Given the description of an element on the screen output the (x, y) to click on. 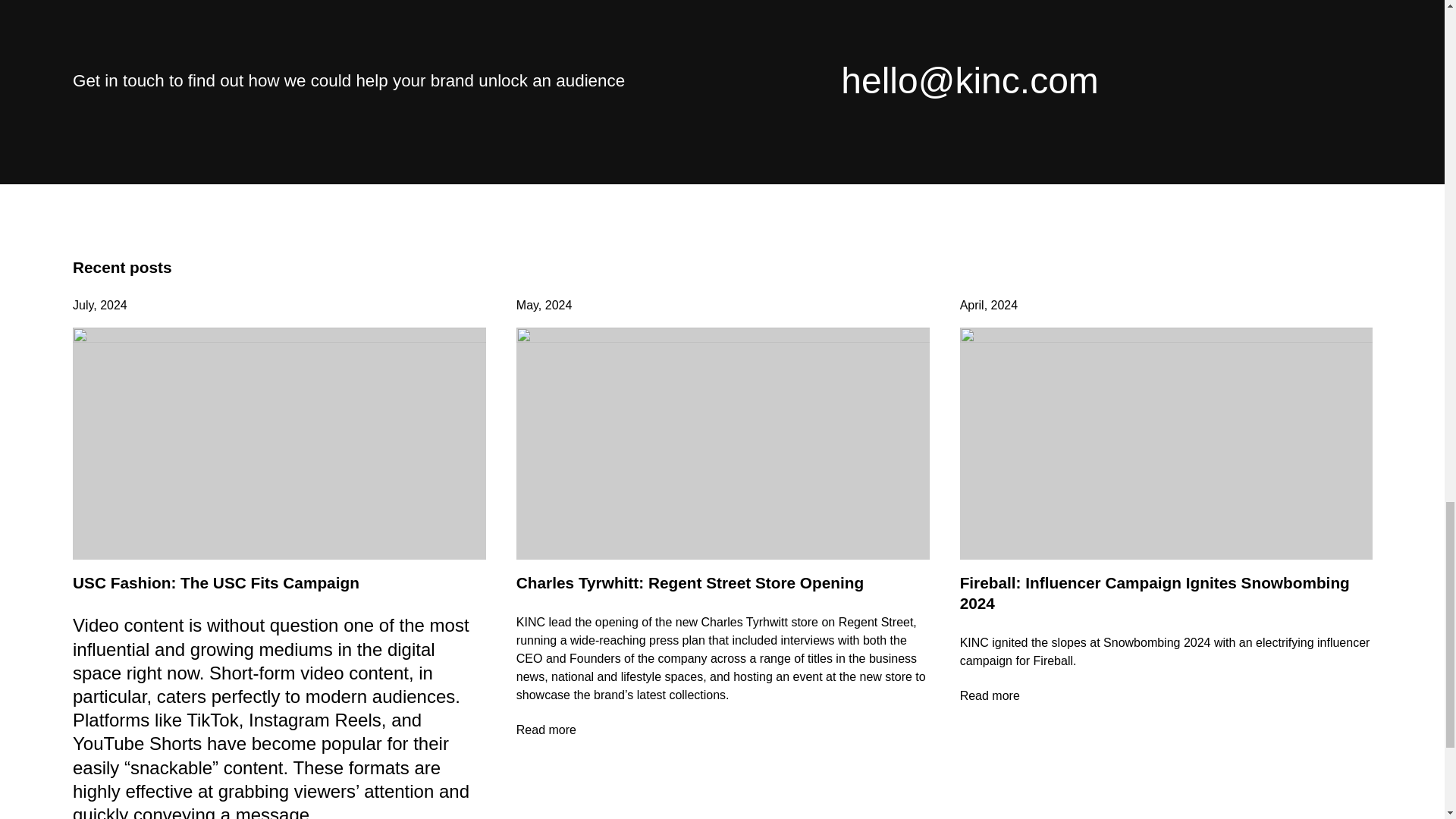
2024 (1004, 305)
Fireball: Influencer Campaign Ignites Snowbombing 2024 (1154, 592)
Charles Tyrwhitt: Regent Street Store Opening (689, 582)
Read more (1166, 696)
May (527, 305)
April (971, 305)
July (82, 305)
Read more (723, 730)
2024 (558, 305)
USC Fashion: The USC Fits Campaign (215, 582)
2024 (114, 305)
